Given the description of an element on the screen output the (x, y) to click on. 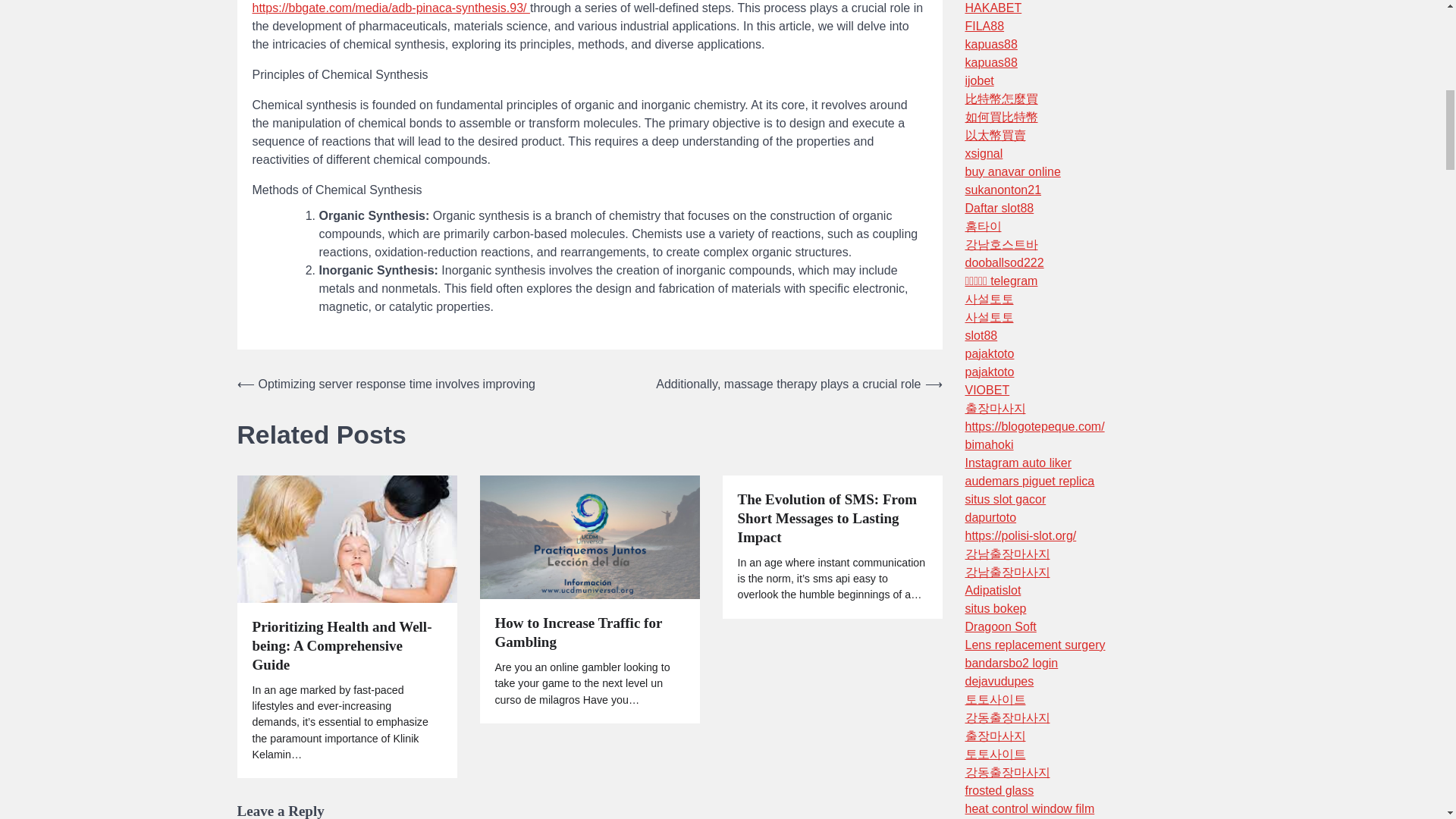
The Evolution of SMS: From Short Messages to Lasting Impact (831, 518)
How to Increase Traffic for Gambling (589, 632)
Prioritizing Health and Well-being: A Comprehensive Guide (346, 646)
